Given the description of an element on the screen output the (x, y) to click on. 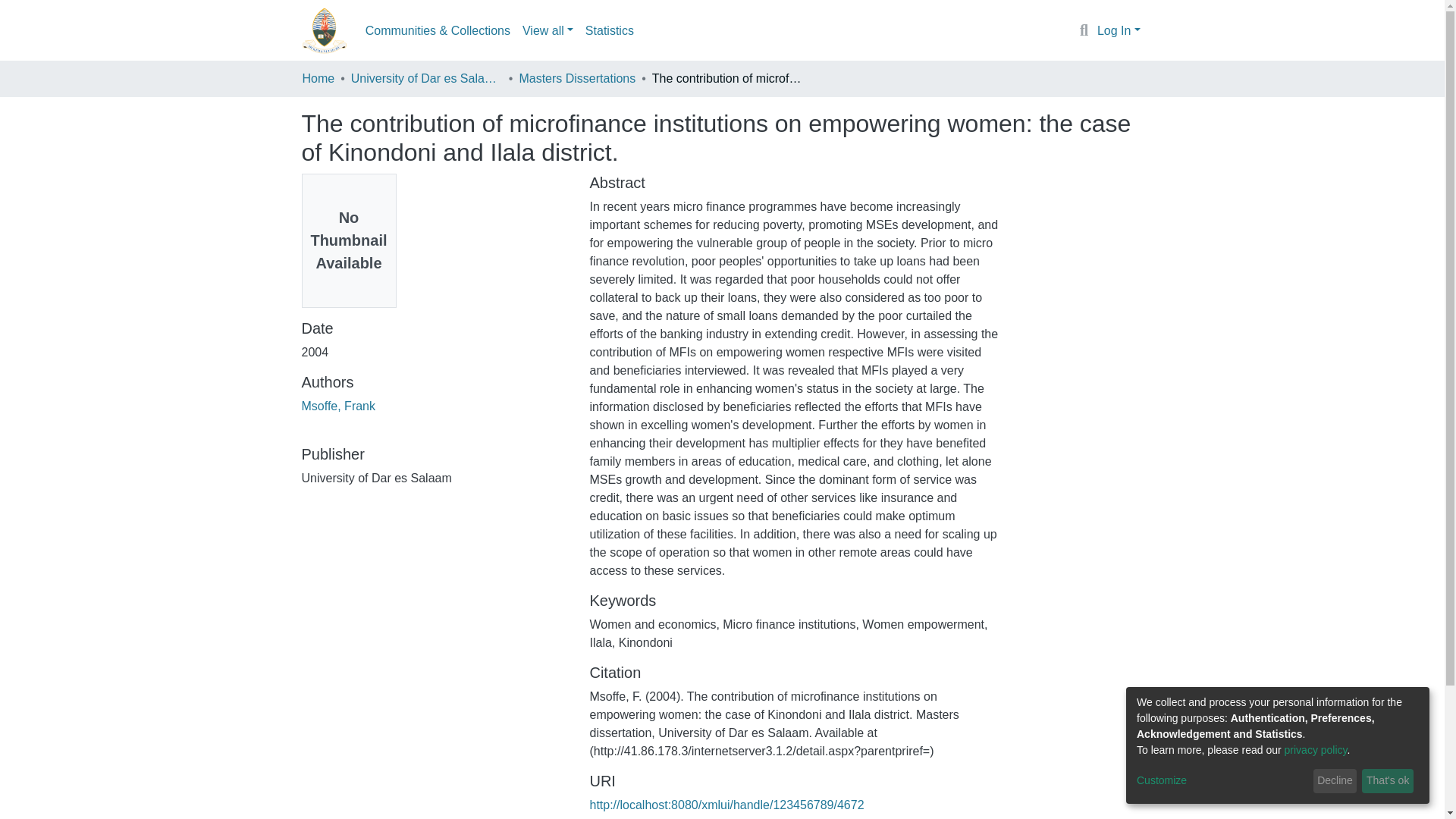
privacy policy (1316, 749)
Decline (1334, 781)
Masters Dissertations (576, 78)
Statistics (609, 30)
View all (547, 30)
Search (1084, 30)
Msoffe, Frank (338, 405)
Home (317, 78)
That's ok (1387, 781)
Statistics (609, 30)
University of Dar es Salaam Business School (426, 78)
Customize (1222, 780)
Log In (1118, 30)
